Given the description of an element on the screen output the (x, y) to click on. 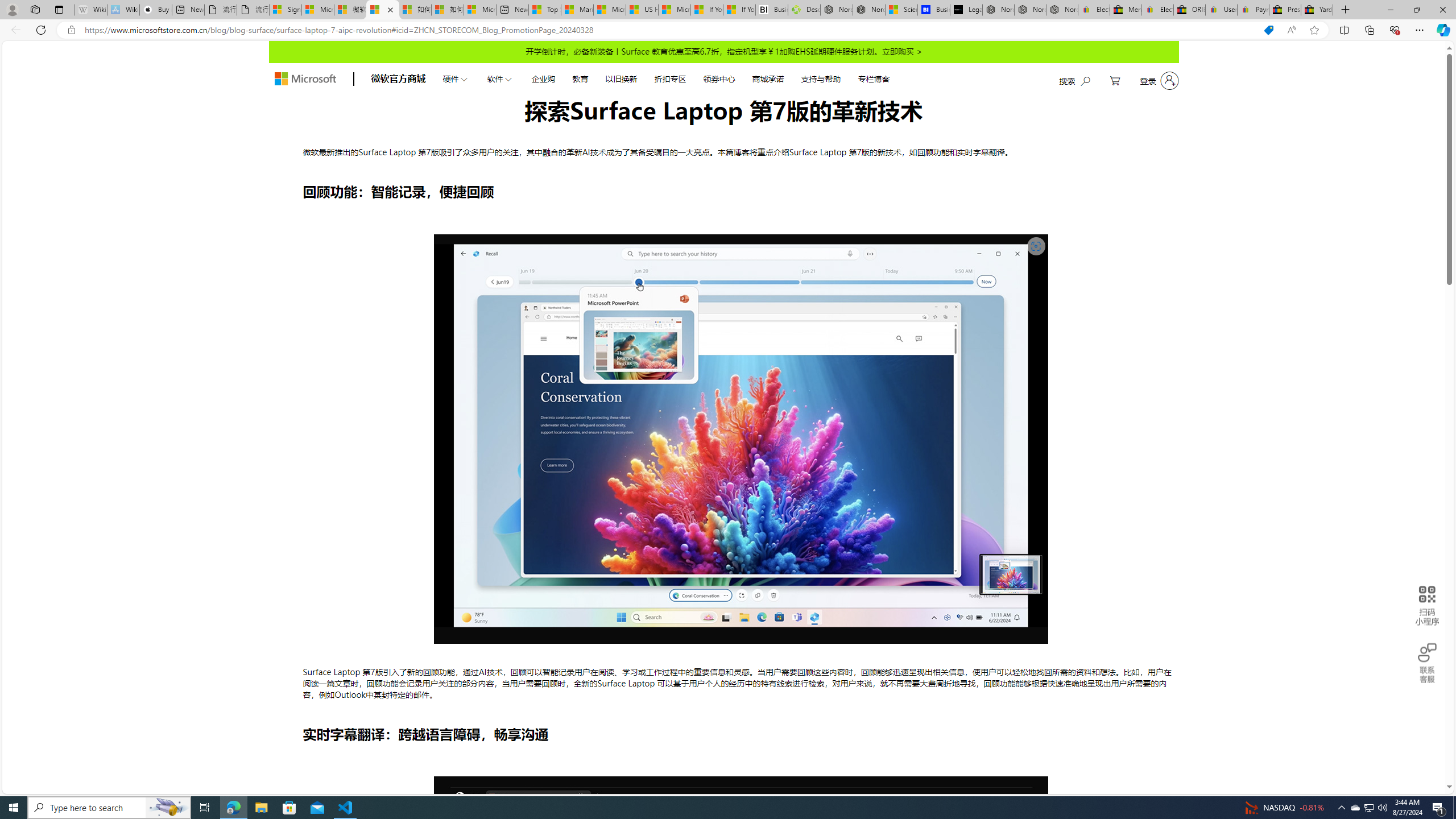
Sign in to your Microsoft account (285, 9)
Top Stories - MSN (545, 9)
US Heat Deaths Soared To Record High Last Year (641, 9)
Yard, Garden & Outdoor Living (1316, 9)
Microsoft Services Agreement (318, 9)
Descarga Driver Updater (804, 9)
